Given the description of an element on the screen output the (x, y) to click on. 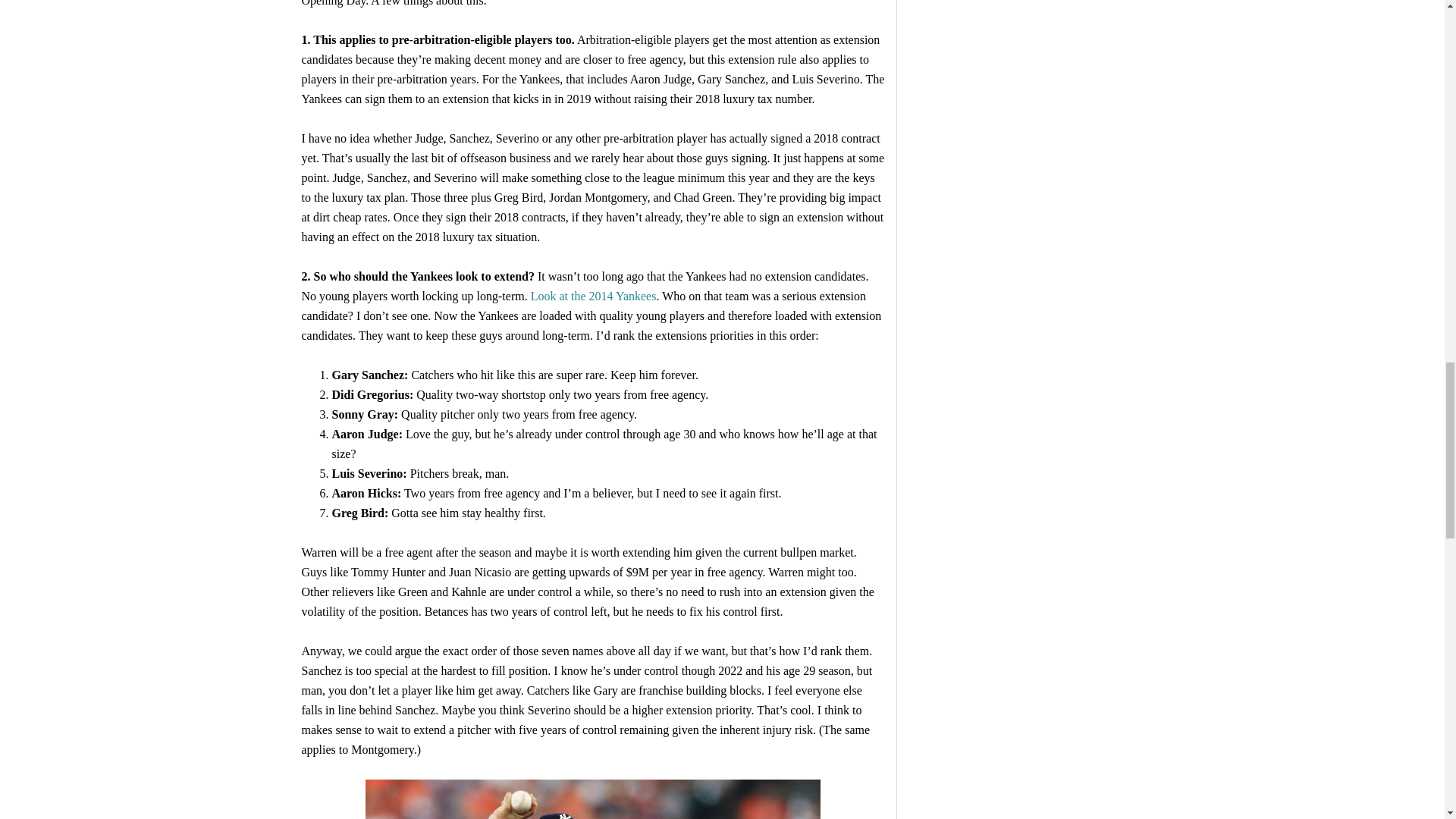
Look at the 2014 Yankees (593, 295)
